Given the description of an element on the screen output the (x, y) to click on. 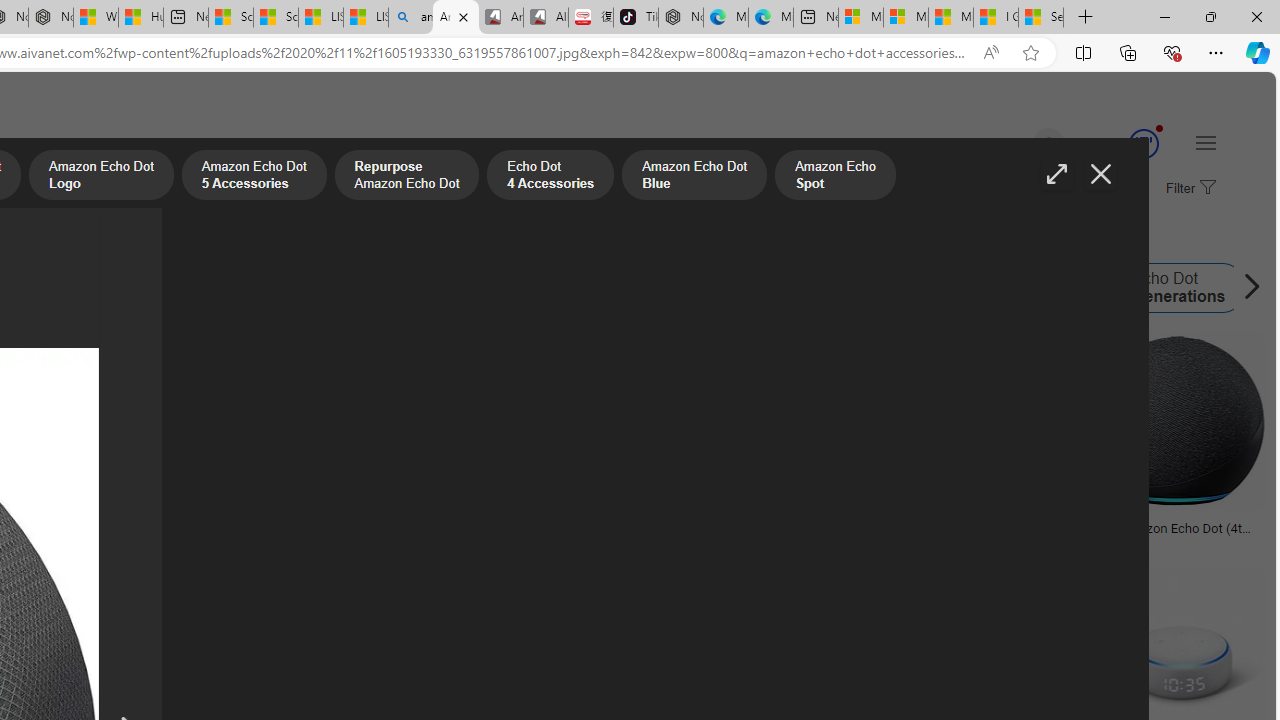
Echo Dot Generations (1103, 287)
Microsoft Rewards 147 (1119, 143)
TikTok (635, 17)
Amazon Echo Dot 3 (968, 287)
Close image (1100, 173)
Image result for Amazon Echo Dot PNG (1175, 421)
Scroll right (1246, 287)
